Given the description of an element on the screen output the (x, y) to click on. 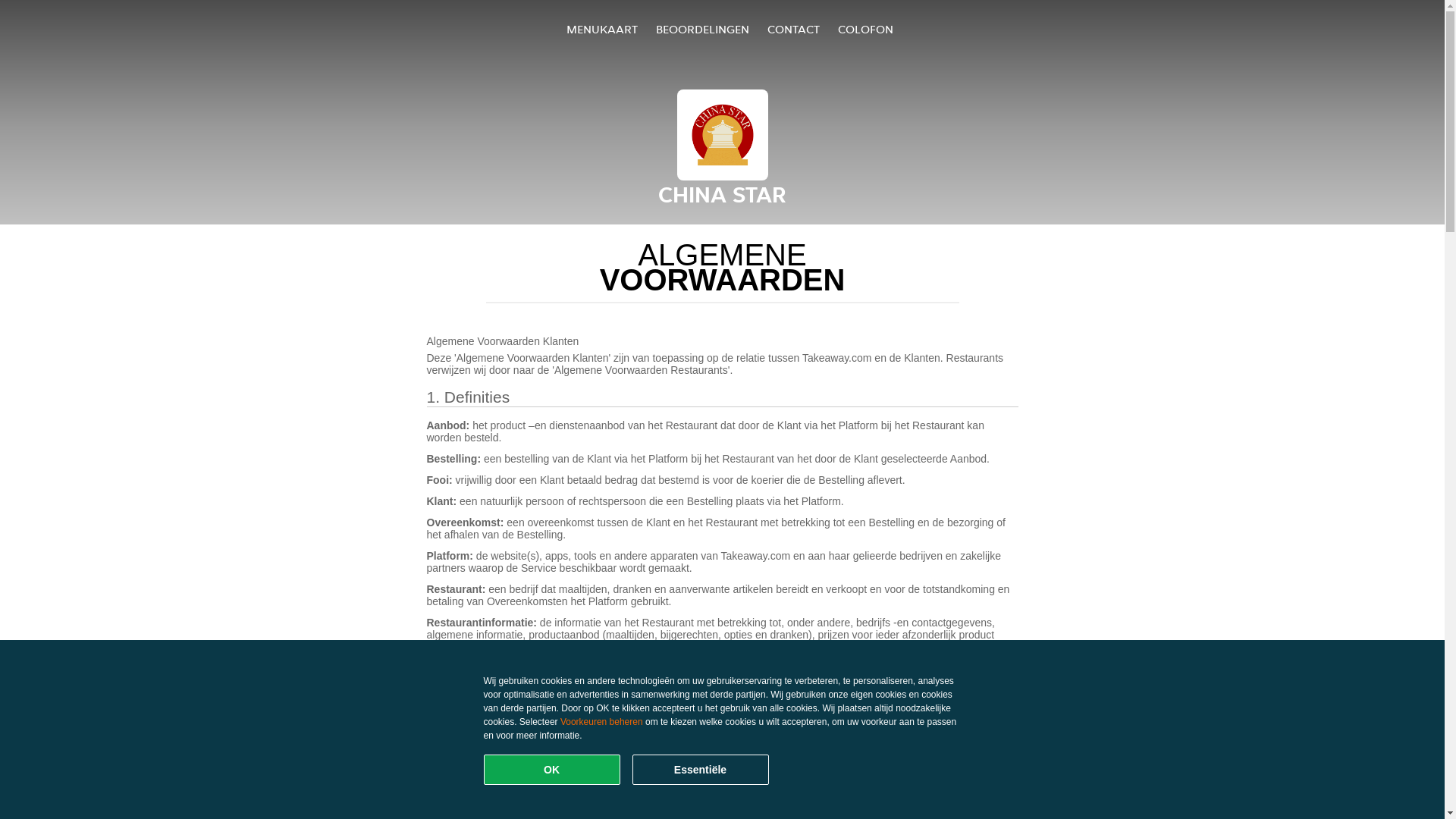
Voorkeuren beheren Element type: text (601, 721)
CONTACT Element type: text (793, 29)
COLOFON Element type: text (865, 29)
BEOORDELINGEN Element type: text (702, 29)
OK Element type: text (551, 769)
MENUKAART Element type: text (601, 29)
